Given the description of an element on the screen output the (x, y) to click on. 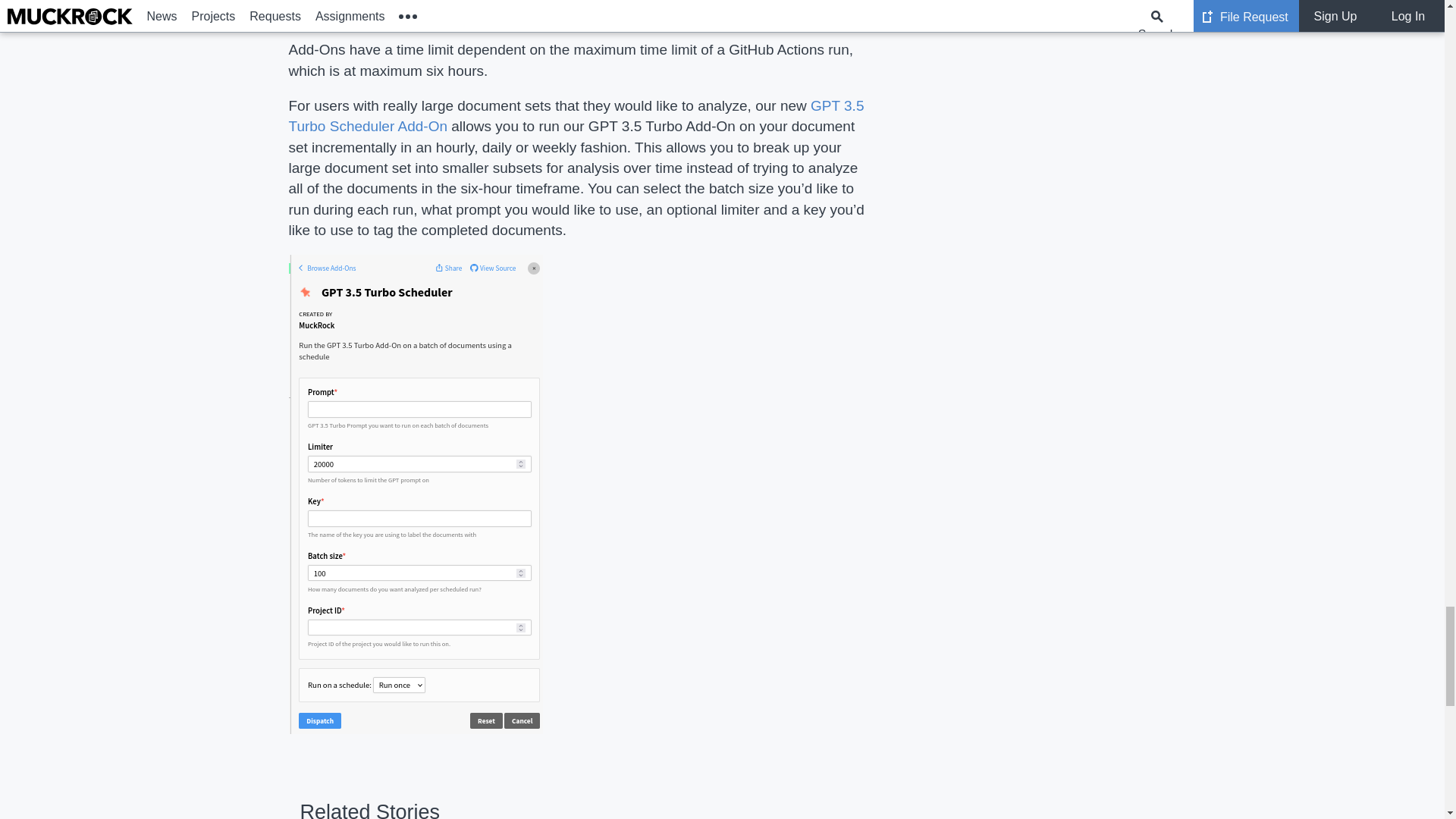
GPT 3.5 Turbo Scheduler Add-On (575, 115)
